Given the description of an element on the screen output the (x, y) to click on. 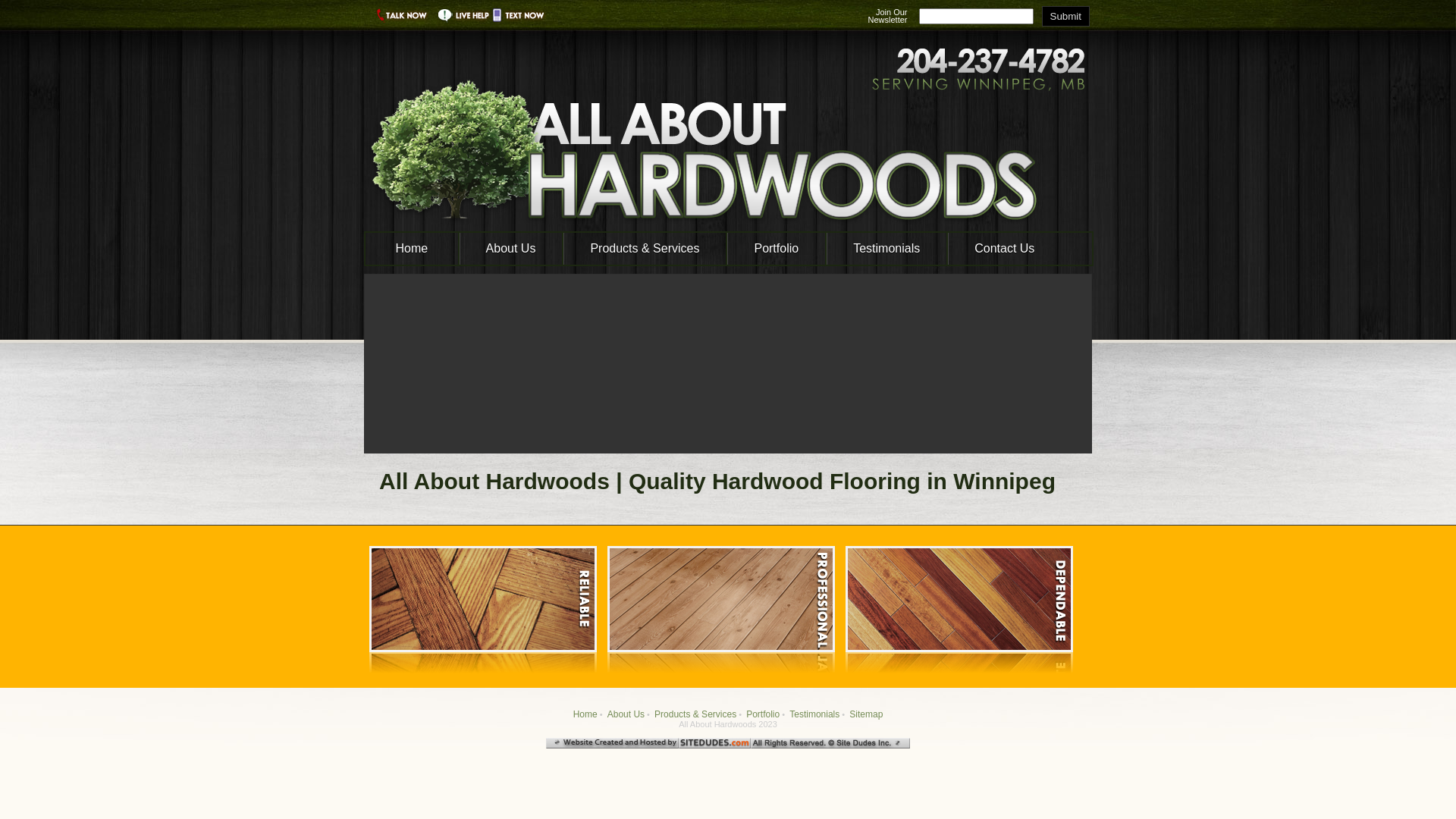
All About Hardwoods - Live Help Element type: hover (463, 18)
All About Hardwoods - Text Now Element type: hover (522, 18)
Contact Us Element type: text (1003, 248)
 Home  Element type: text (411, 248)
Submit Element type: text (1065, 16)
Products & Services Element type: text (695, 714)
Sitemap Element type: text (865, 714)
Portfolio Element type: text (776, 248)
Home Element type: text (585, 714)
All About Hardwoods - Talk Now Element type: hover (398, 18)
Testimonials Element type: text (814, 714)
About Us Element type: text (625, 714)
All About Hardwoods - Logo Element type: hover (728, 136)
Portfolio Element type: text (762, 714)
About Us Element type: text (510, 248)
Testimonials Element type: text (886, 248)
Products & Services Element type: text (644, 248)
